Given the description of an element on the screen output the (x, y) to click on. 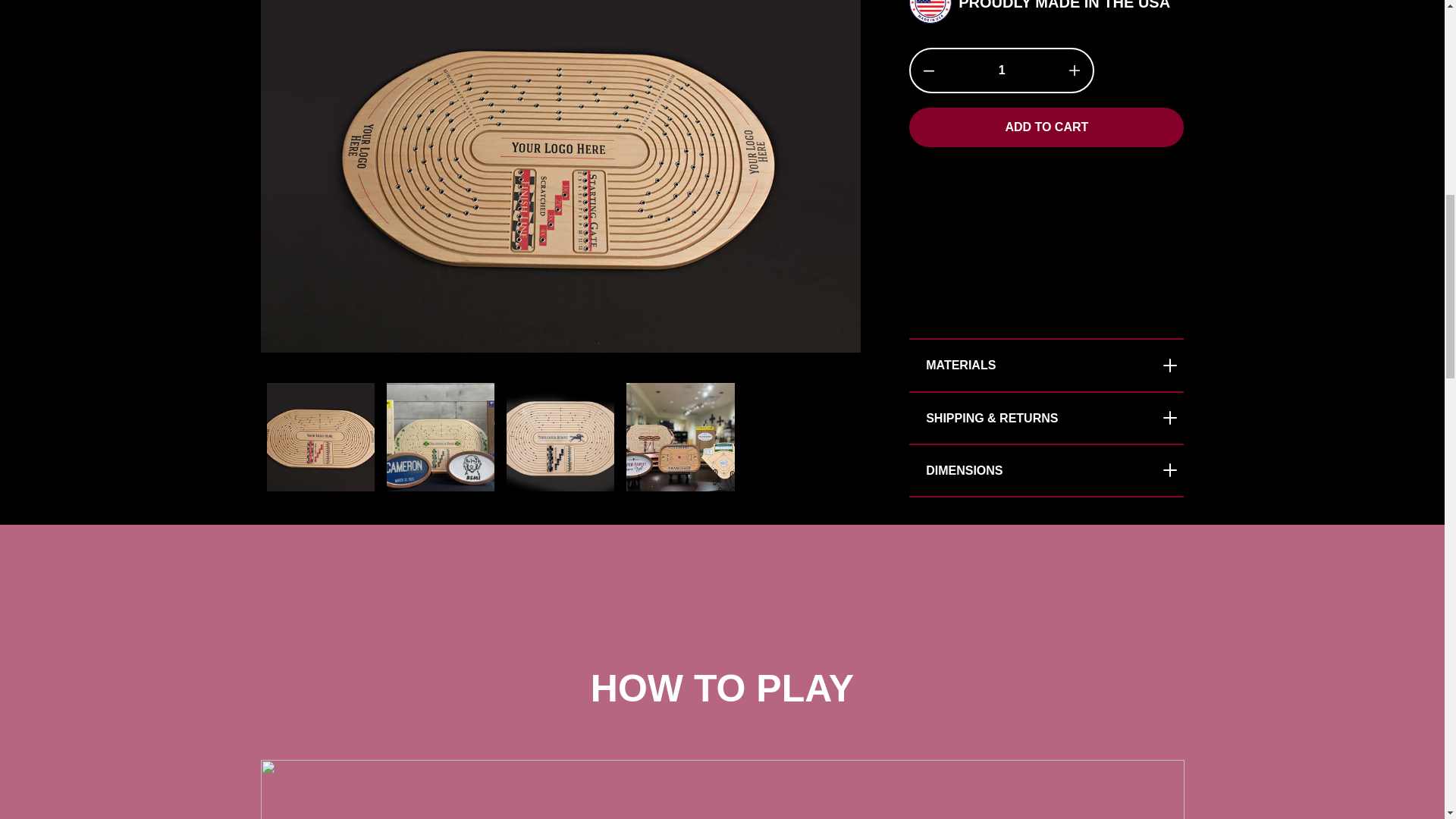
1 (1002, 70)
